Given the description of an element on the screen output the (x, y) to click on. 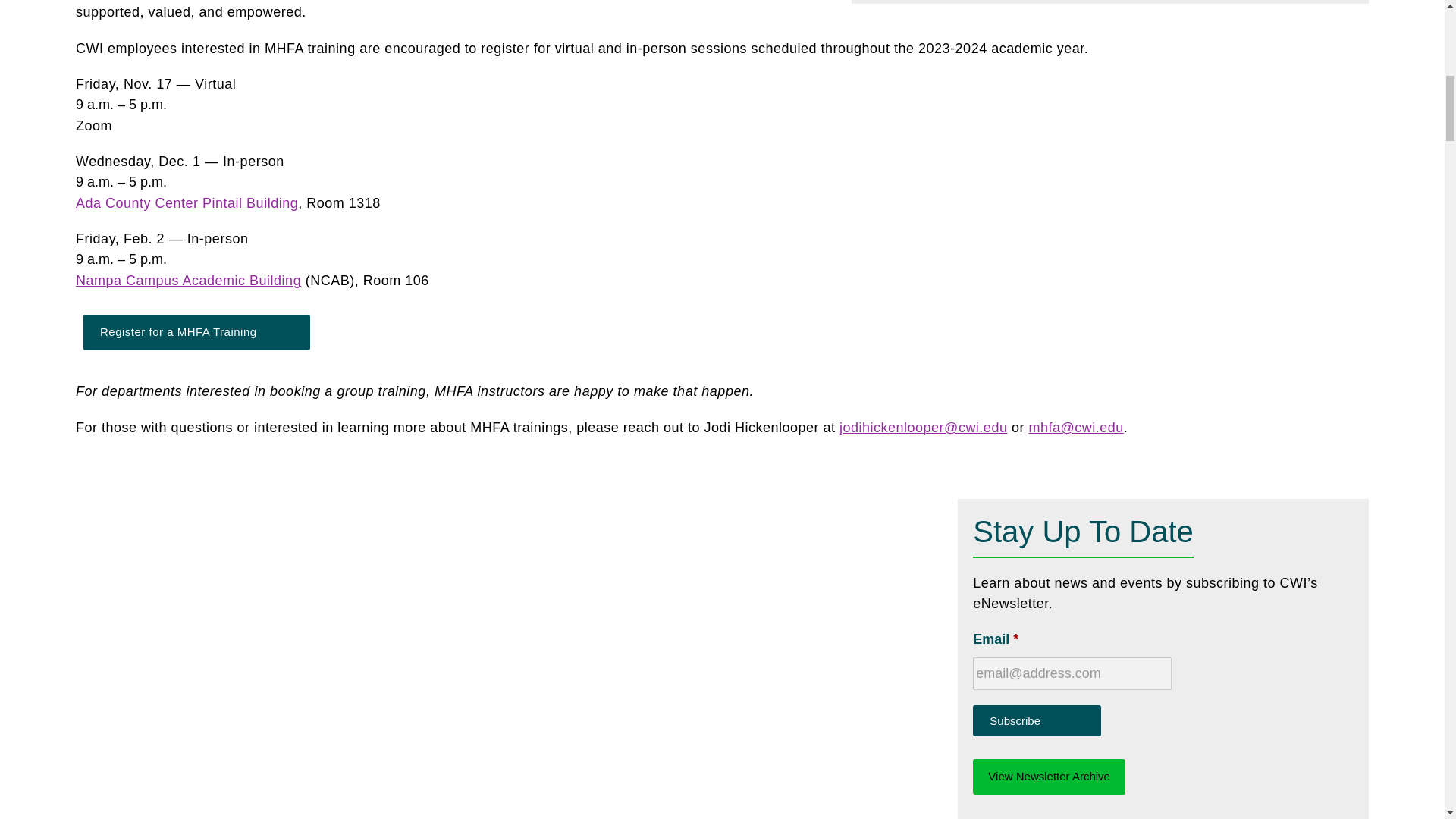
Subscribe (1036, 720)
